Given the description of an element on the screen output the (x, y) to click on. 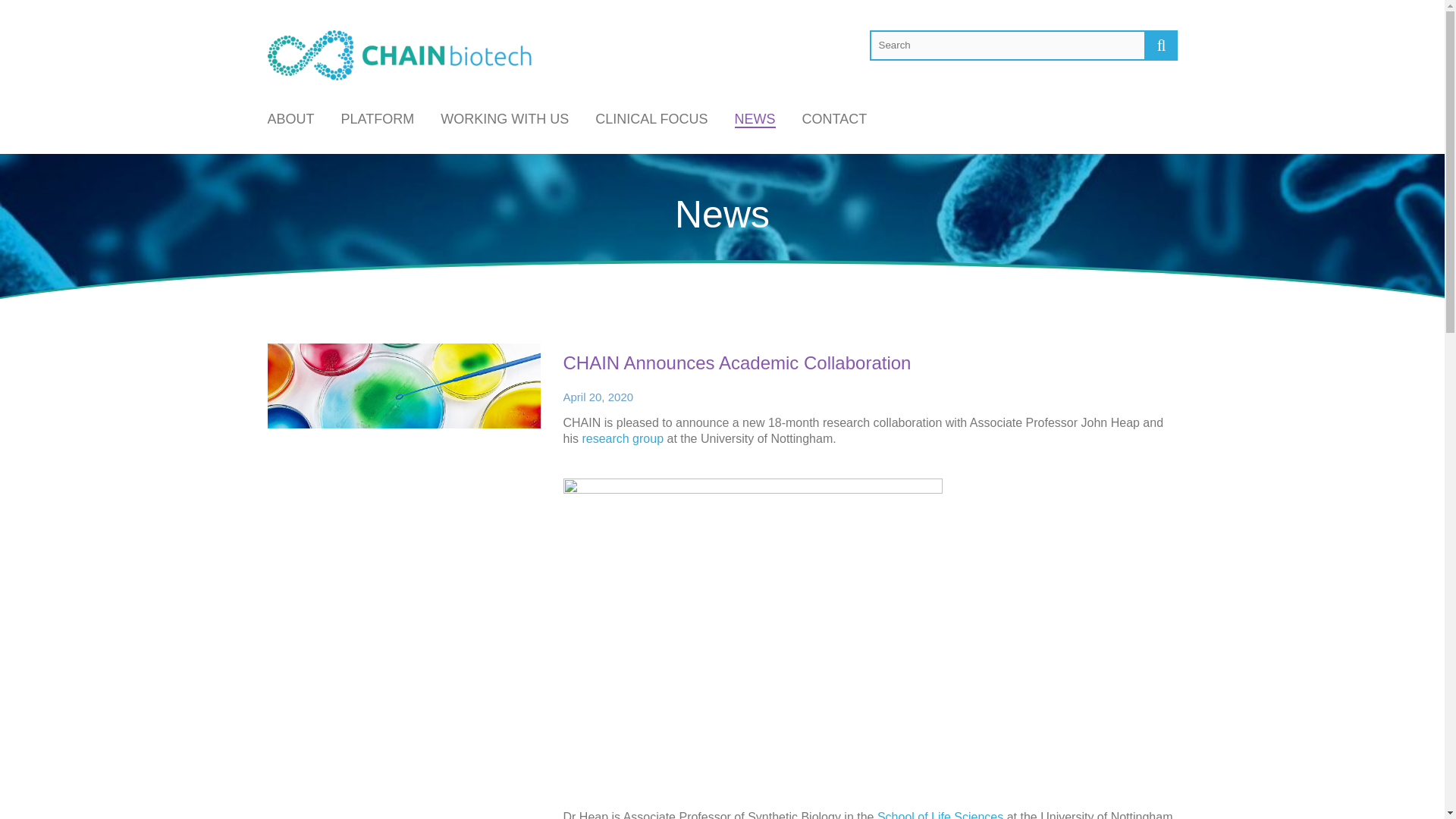
School of Life Sciences (940, 814)
CLINICAL FOCUS (651, 118)
ABOUT (290, 118)
WORKING WITH US (505, 118)
NEWS (755, 119)
research group (621, 438)
PLATFORM (377, 118)
CONTACT (834, 118)
